Given the description of an element on the screen output the (x, y) to click on. 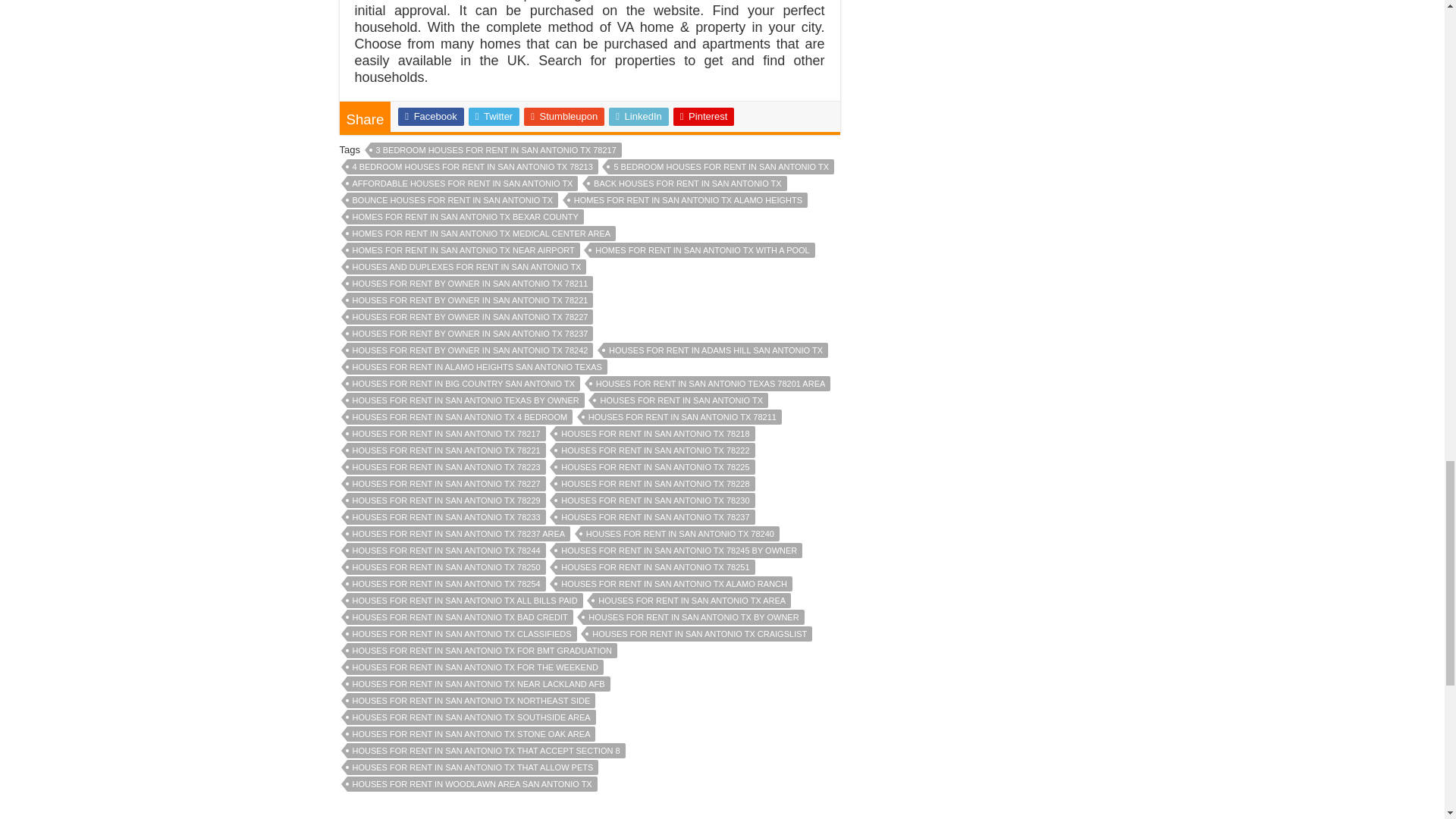
Facebook (430, 116)
Twitter (493, 116)
LinkedIn (638, 116)
Stumbleupon (564, 116)
